Given the description of an element on the screen output the (x, y) to click on. 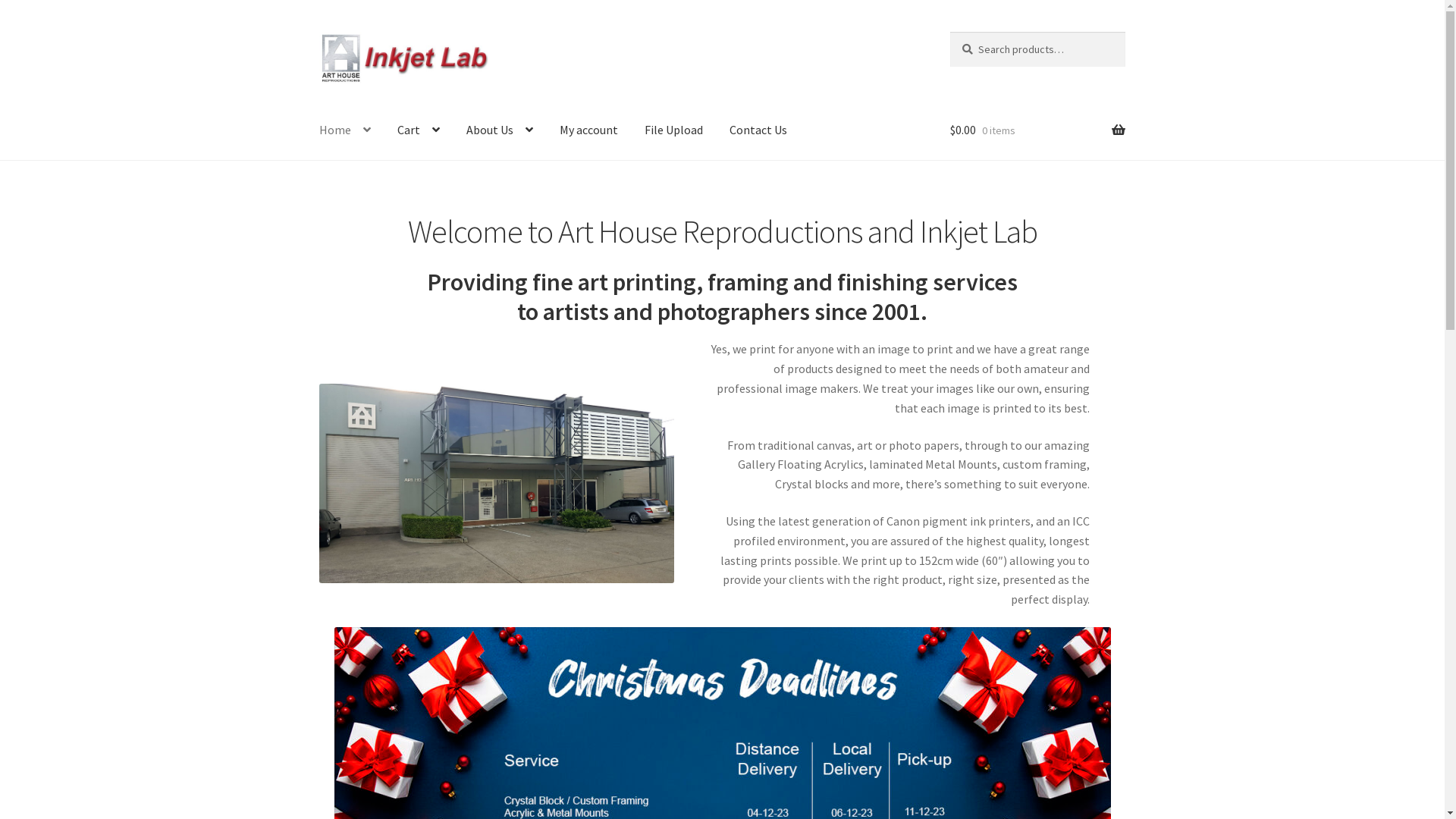
About Us Element type: text (499, 130)
Home Element type: text (344, 130)
Cart Element type: text (418, 130)
My account Element type: text (588, 130)
Skip to navigation Element type: text (318, 31)
Search Element type: text (949, 31)
File Upload Element type: text (673, 130)
Contact Us Element type: text (758, 130)
$0.00 0 items Element type: text (1037, 130)
